Given the description of an element on the screen output the (x, y) to click on. 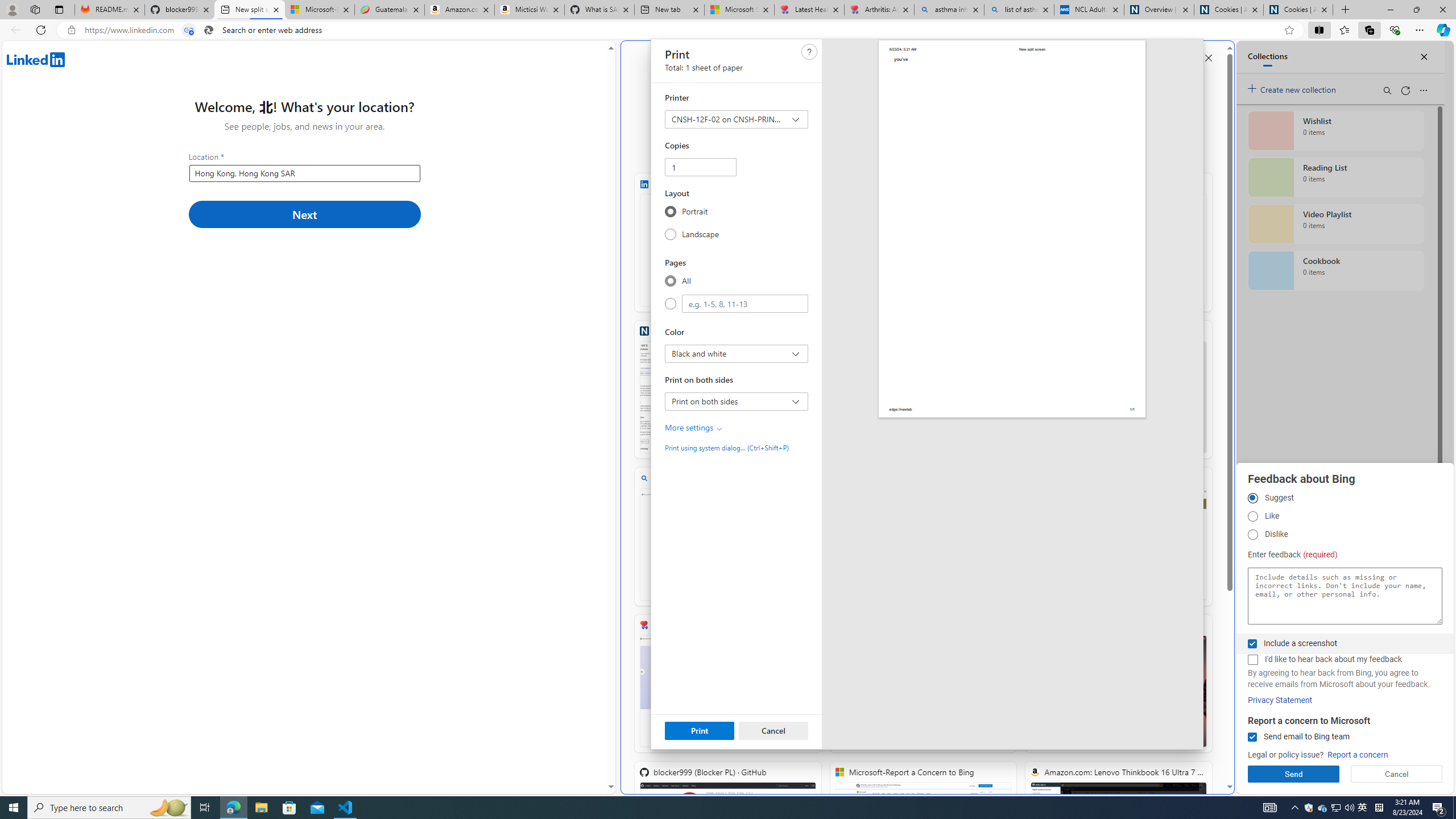
Class: c0183 (718, 428)
Need help (808, 51)
Landscape (670, 233)
Copies (700, 167)
Color Black and white (736, 353)
All (670, 280)
Custom (670, 303)
Custom (744, 303)
Portrait (670, 211)
Printer CNSH-12F-02 on CNSH-PRINT-01 (736, 119)
More settings (694, 427)
Print (699, 730)
Print on both sides Print on both sides (736, 401)
Cancel (773, 730)
